Given the description of an element on the screen output the (x, y) to click on. 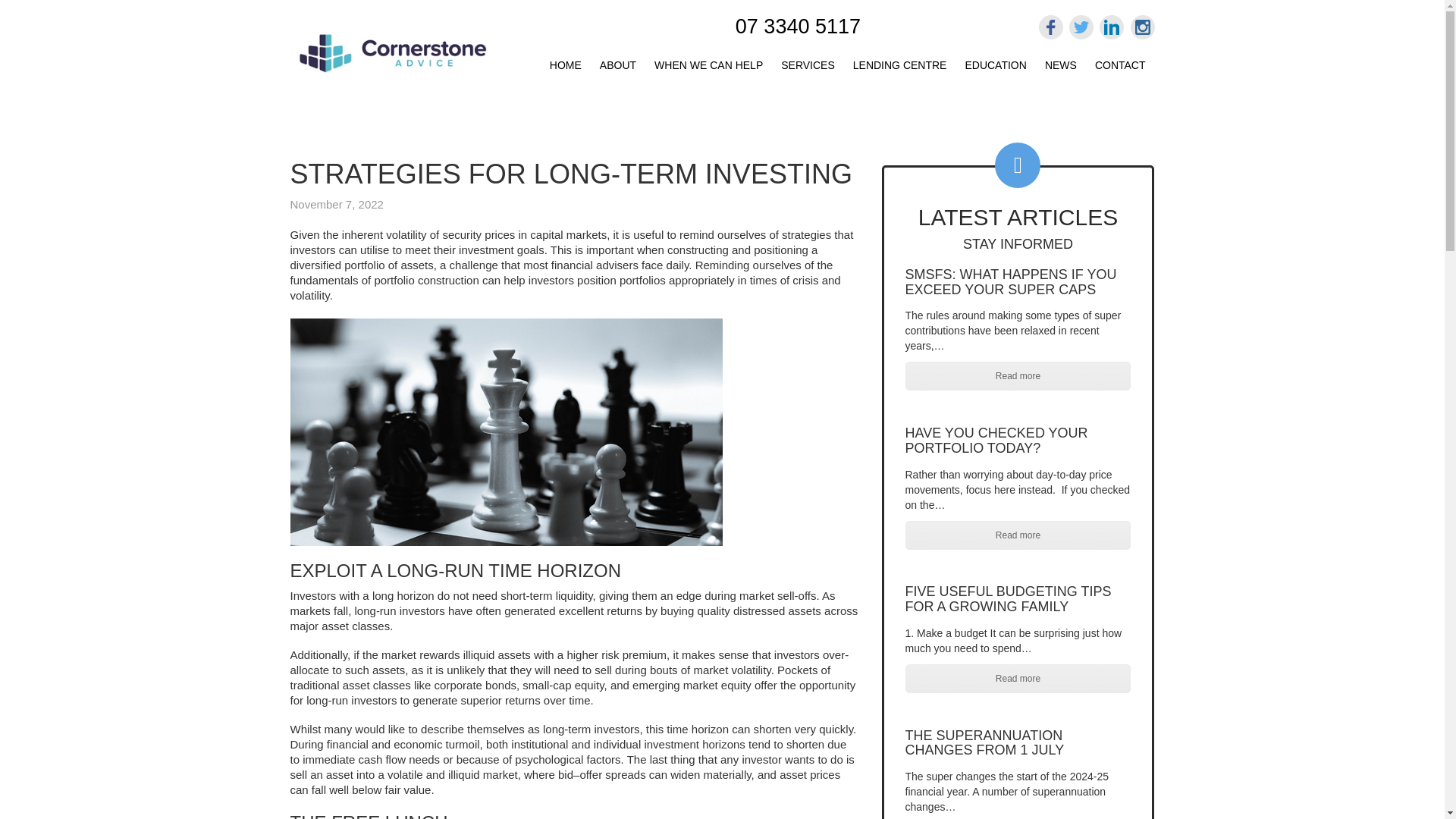
Visit us on LinkedIn (1111, 27)
NEWS (1060, 62)
Read more (1018, 375)
HAVE YOU CHECKED YOUR PORTFOLIO TODAY? (996, 440)
EDUCATION (995, 62)
Visit us on Facebook (1050, 27)
Services (807, 62)
LENDING CENTRE (900, 62)
SMSFS: WHAT HAPPENS IF YOU EXCEED YOUR SUPER CAPS (1010, 281)
Lending Centre (900, 62)
Home (565, 62)
Read more (1018, 534)
CONTACT (1120, 62)
HOME (565, 62)
When We Can Help (708, 62)
